Given the description of an element on the screen output the (x, y) to click on. 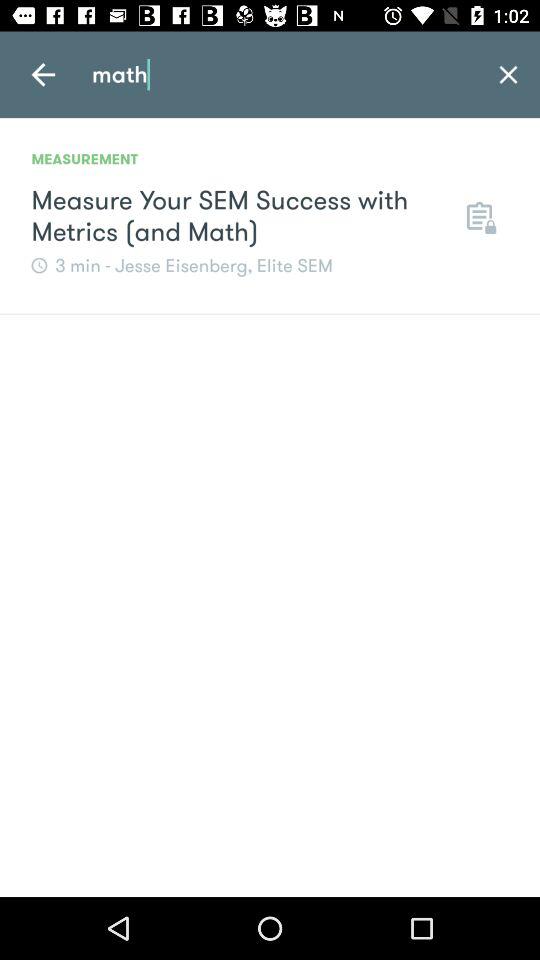
select item to the left of the math icon (43, 74)
